Given the description of an element on the screen output the (x, y) to click on. 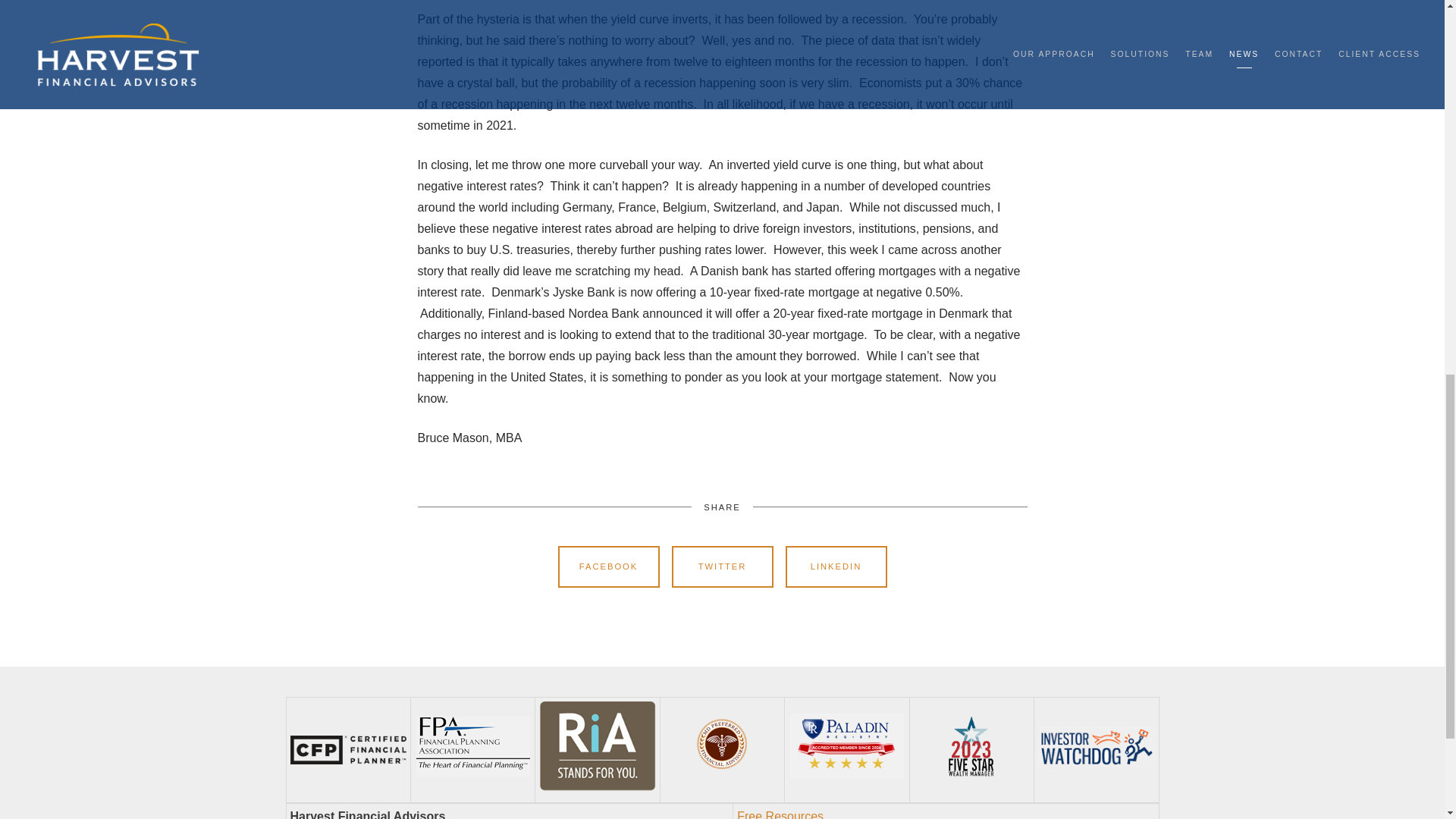
TWITTER (722, 567)
Free Resources (780, 814)
LINKEDIN (836, 567)
FACEBOOK (608, 567)
